Given the description of an element on the screen output the (x, y) to click on. 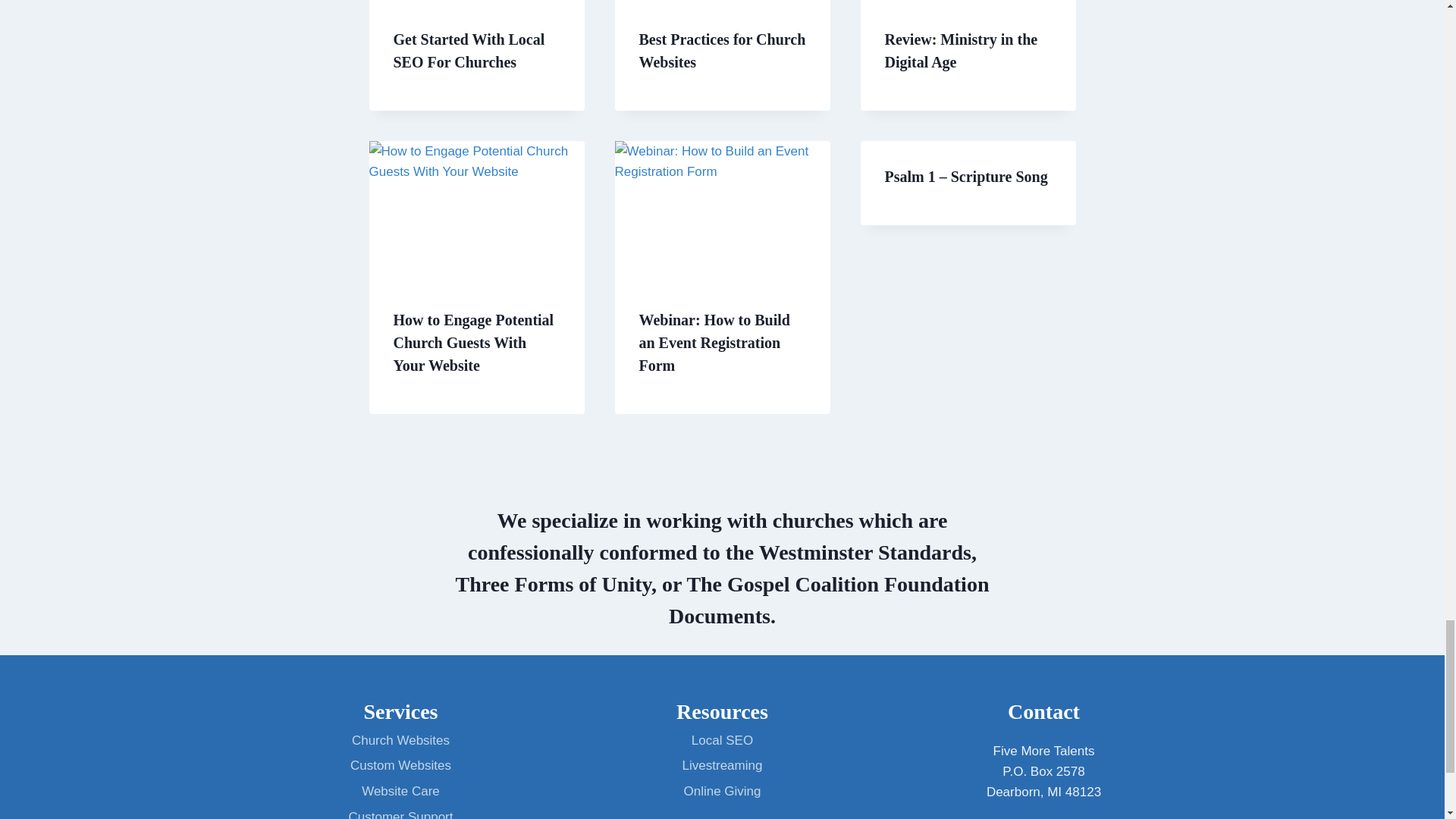
Custom Websites (400, 766)
Get Started With Local SEO For Churches (468, 50)
How to Engage Potential Church Guests With Your Website (473, 342)
The Gospel Coalition Foundation Documents (828, 600)
Best Practices for Church Websites (722, 50)
Westminster Standards (864, 552)
Webinar: How to Build an Event Registration Form (714, 342)
Three Forms of Unity (552, 584)
Church Websites (400, 740)
Review: Ministry in the Digital Age (959, 50)
